Given the description of an element on the screen output the (x, y) to click on. 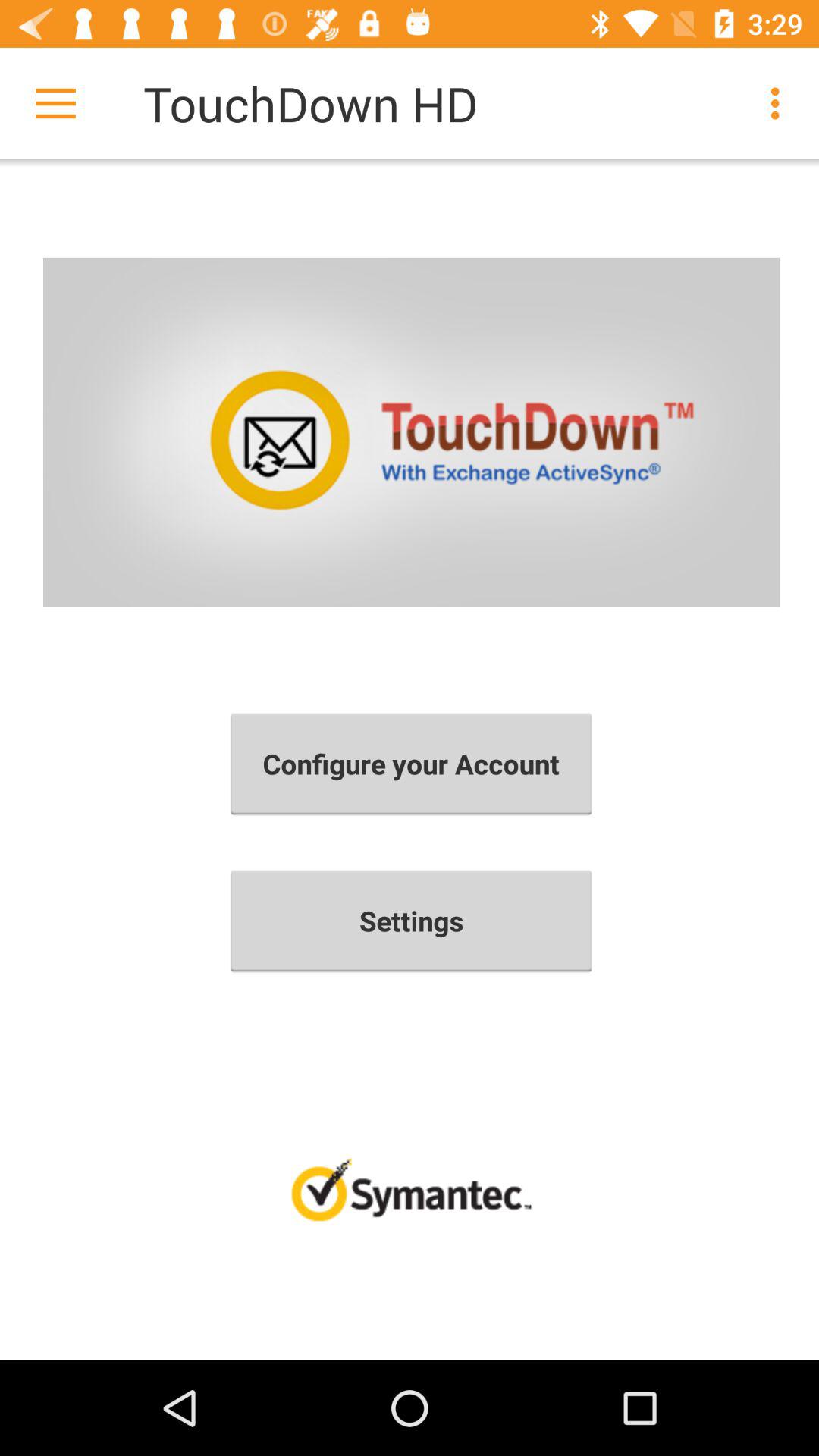
launch the item at the top right corner (779, 103)
